Given the description of an element on the screen output the (x, y) to click on. 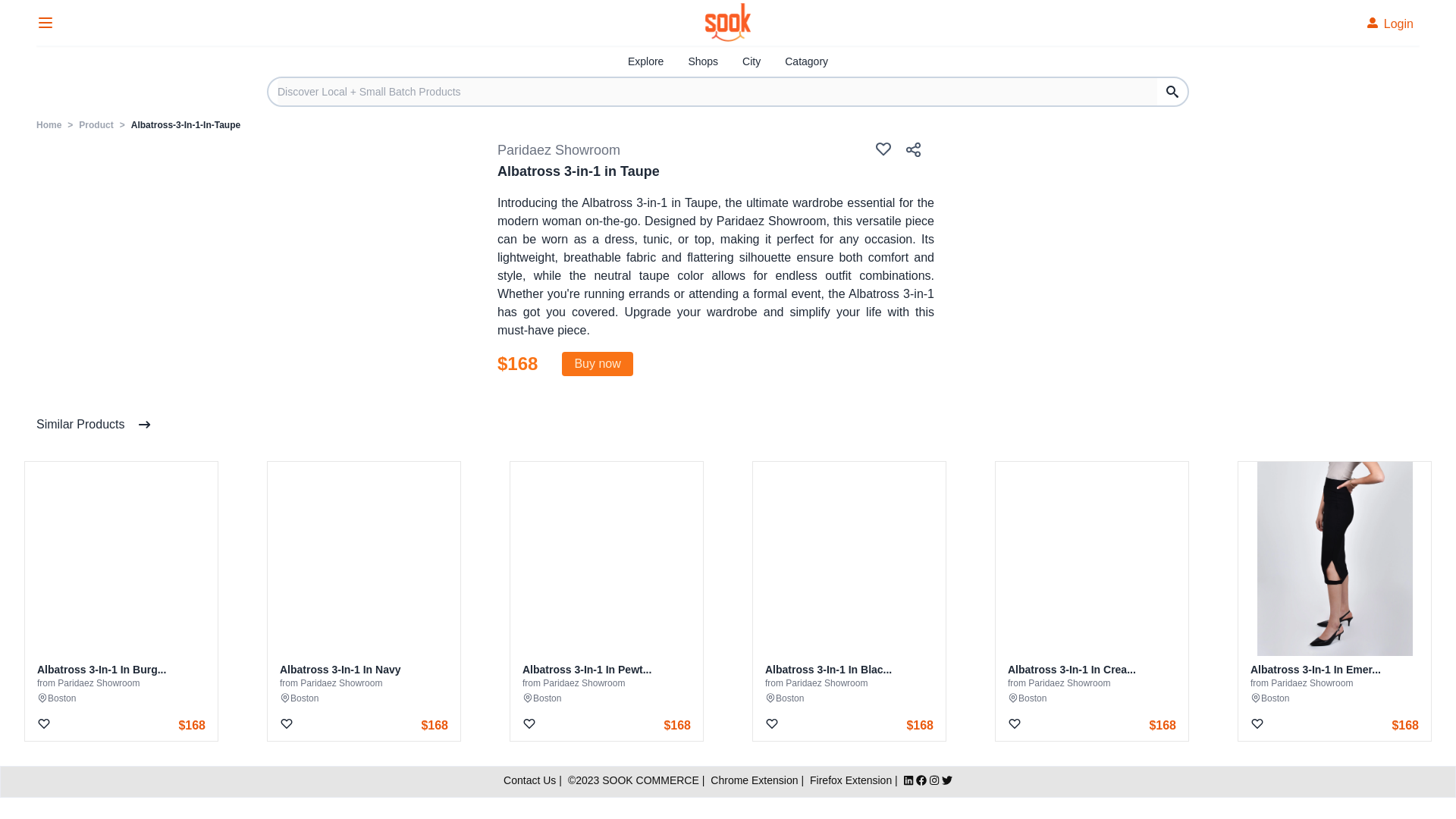
Shops (702, 61)
City (751, 61)
Buy now (596, 363)
Albatross-3-In-1-In-Taupe (185, 124)
Login (1393, 22)
Explore (645, 61)
Product (95, 124)
Similar Products (93, 424)
Catagory (806, 61)
Albatross 3-in-1 in Taupe (578, 171)
Login (1384, 22)
Home (48, 124)
Search (1172, 91)
Paridaez Showroom (558, 150)
